Given the description of an element on the screen output the (x, y) to click on. 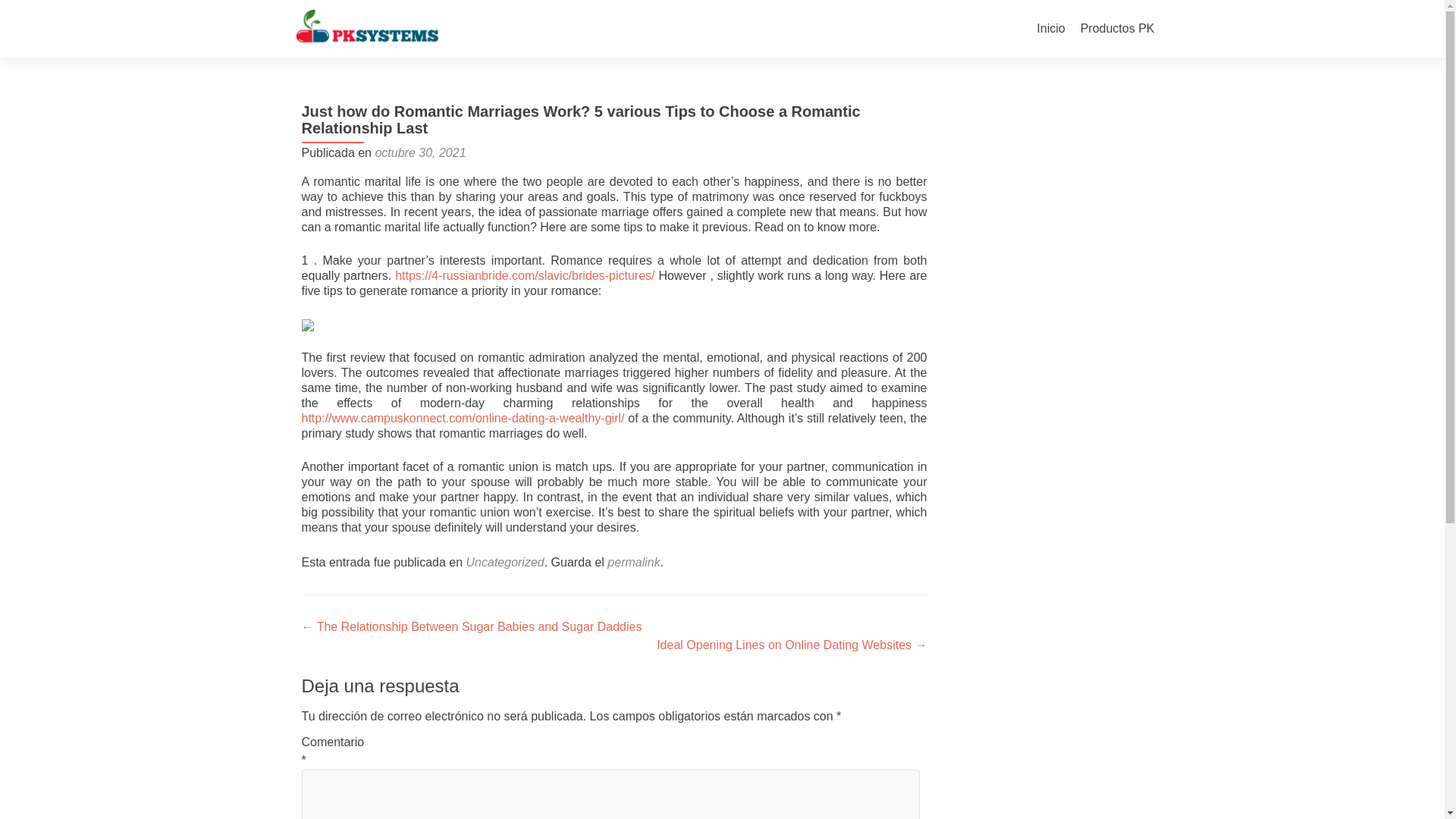
Productos PK (1117, 28)
permalink (633, 562)
Inicio (1050, 28)
octubre 30, 2021 (419, 152)
Uncategorized (504, 562)
